Given the description of an element on the screen output the (x, y) to click on. 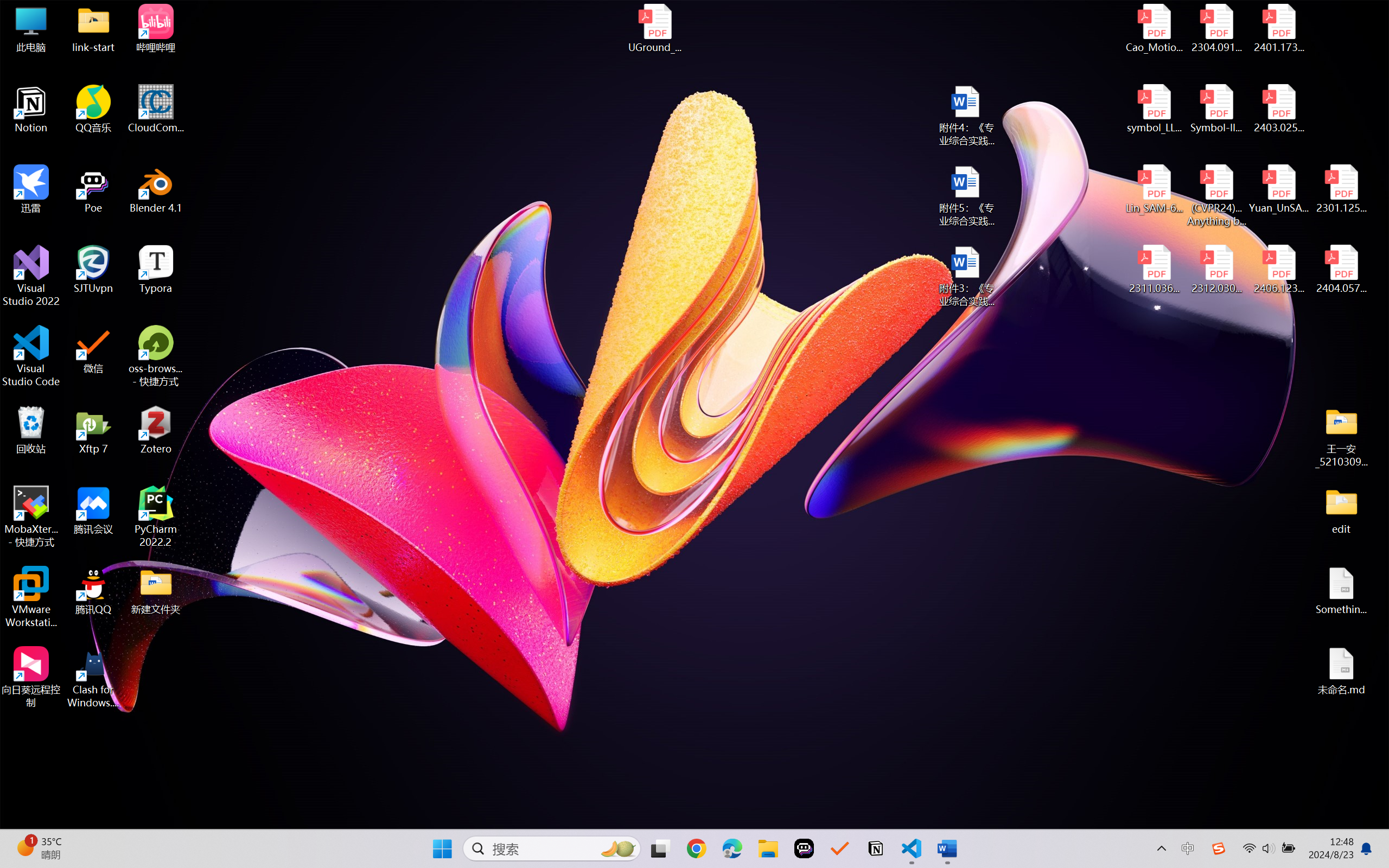
Symbol-llm-v2.pdf (1216, 109)
2312.03032v2.pdf (1216, 269)
2304.09121v3.pdf (1216, 28)
edit (1340, 510)
2406.12373v2.pdf (1278, 269)
